Given the description of an element on the screen output the (x, y) to click on. 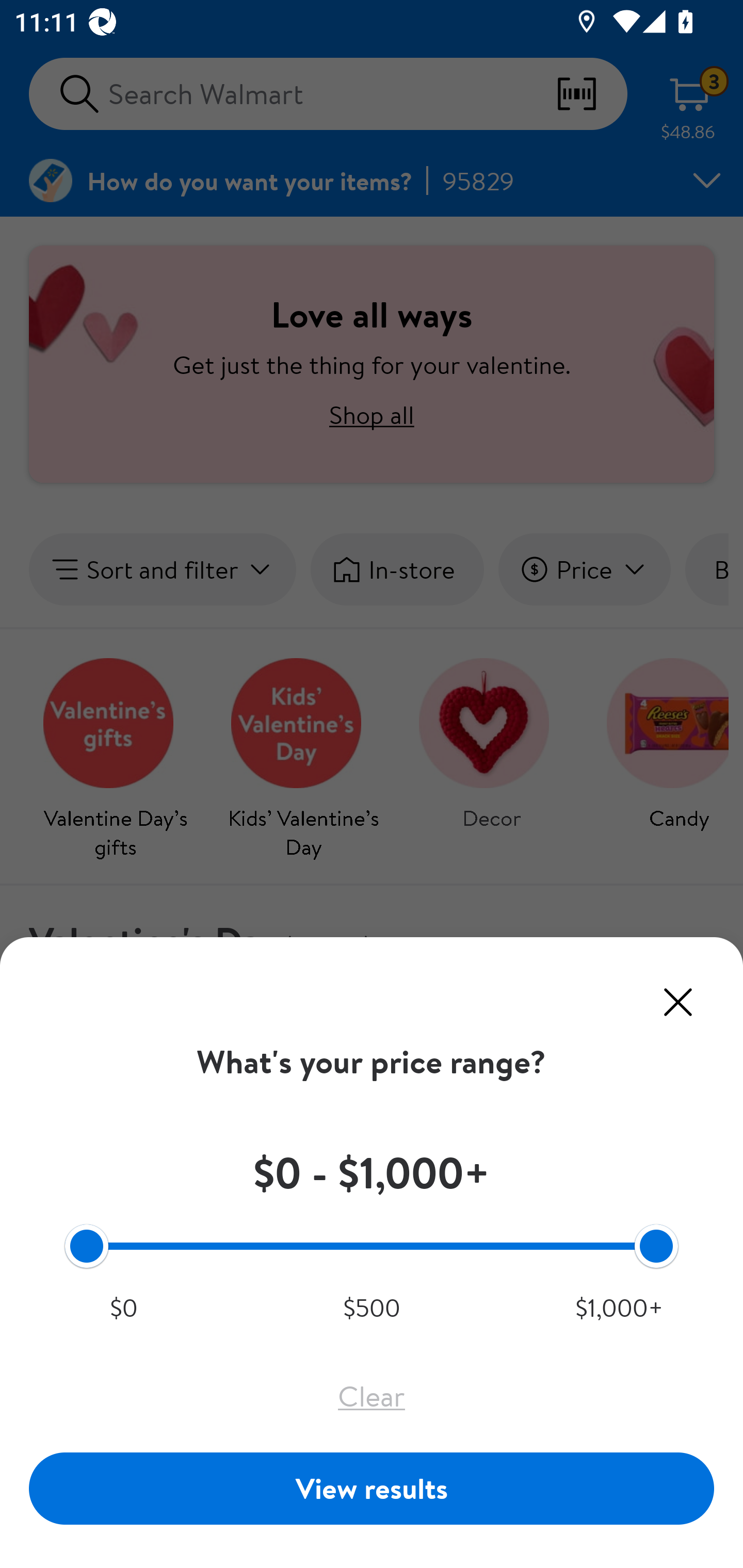
Close (677, 1001)
Range start,0 to 1002 Range end,0 to 1002 (371, 1245)
Clear (371, 1395)
View results (371, 1487)
